Given the description of an element on the screen output the (x, y) to click on. 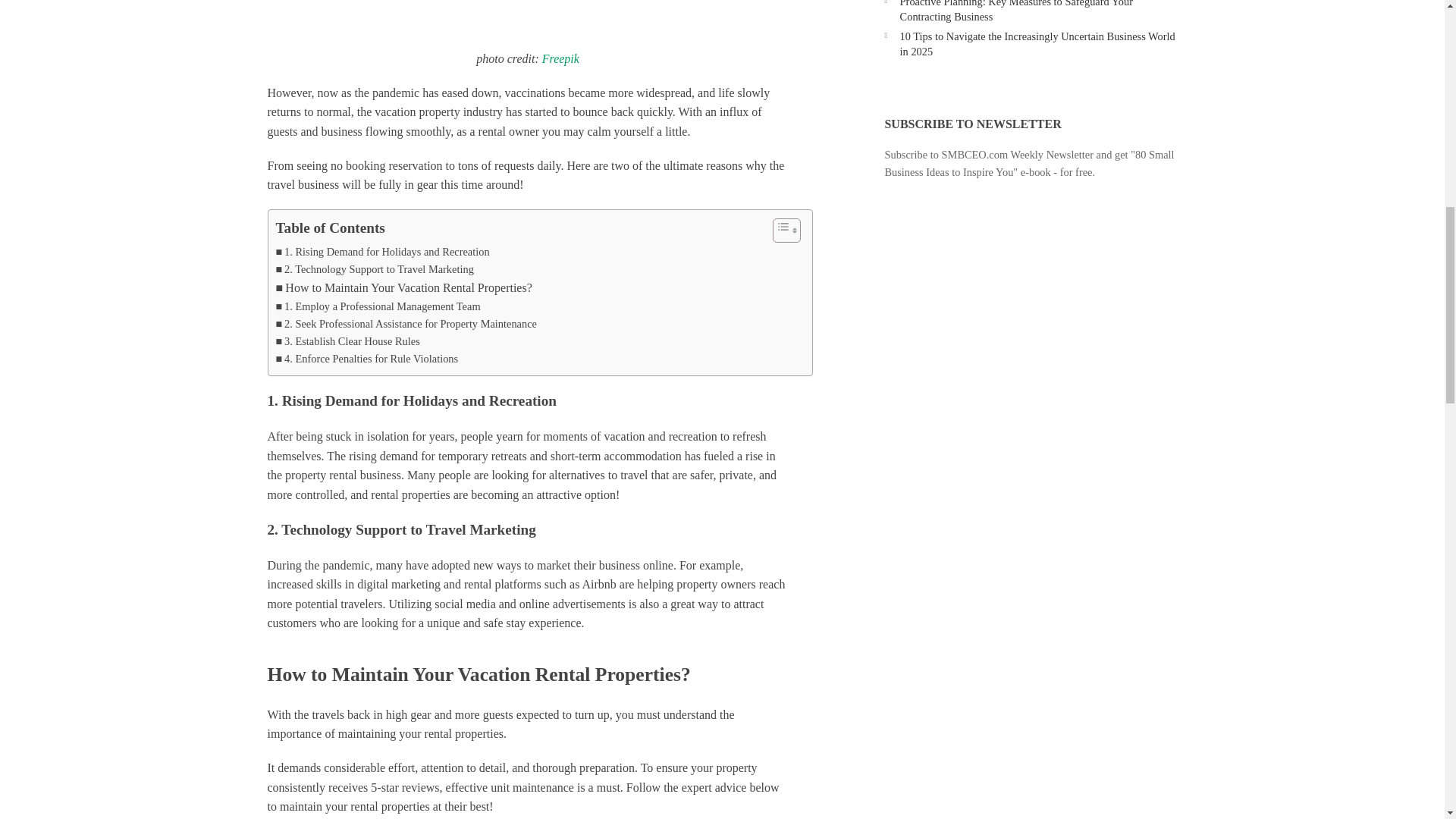
2. Technology Support to Travel Marketing (375, 269)
1. Employ a Professional Management Team (378, 306)
3. Establish Clear House Rules (348, 341)
2. Seek Professional Assistance for Property Maintenance (406, 323)
How to Maintain Your Vacation Rental Properties? (404, 288)
1. Rising Demand for Holidays and Recreation (382, 252)
3. Establish Clear House Rules (348, 341)
How to Maintain Your Vacation Rental Properties? (404, 288)
Freepik (560, 58)
4. Enforce Penalties for Rule Violations (367, 358)
